Given the description of an element on the screen output the (x, y) to click on. 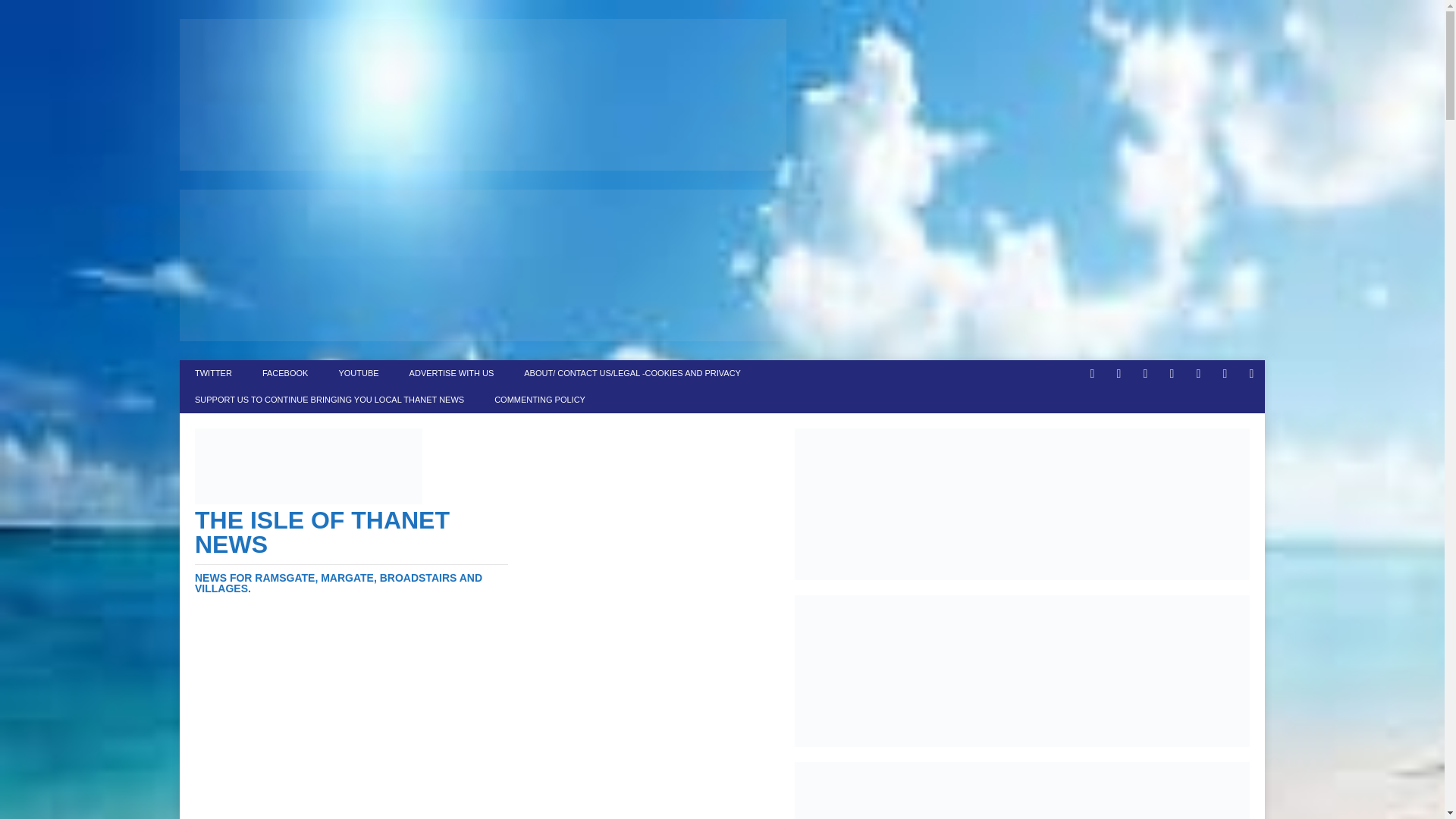
COMMENTING POLICY (539, 399)
TWITTER (213, 373)
SUPPORT US TO CONTINUE BRINGING YOU LOCAL THANET NEWS (329, 399)
YOUTUBE (358, 373)
FACEBOOK (285, 373)
The Isle Of Thanet News (351, 550)
ADVERTISE WITH US (451, 373)
